Given the description of an element on the screen output the (x, y) to click on. 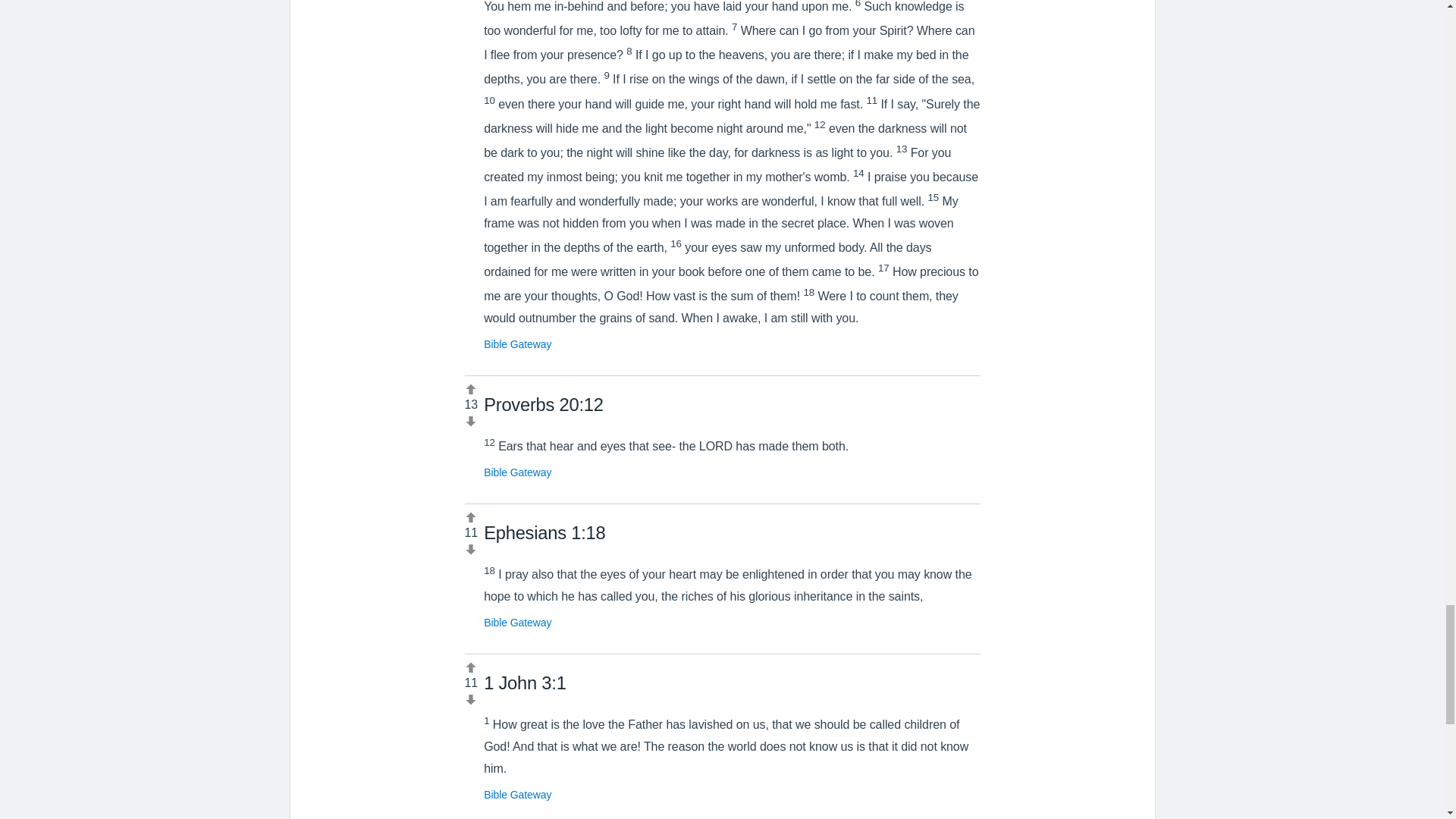
Bible Gateway (517, 794)
Bible Gateway (517, 622)
Bible Gateway (517, 472)
Bible Gateway (517, 344)
